Given the description of an element on the screen output the (x, y) to click on. 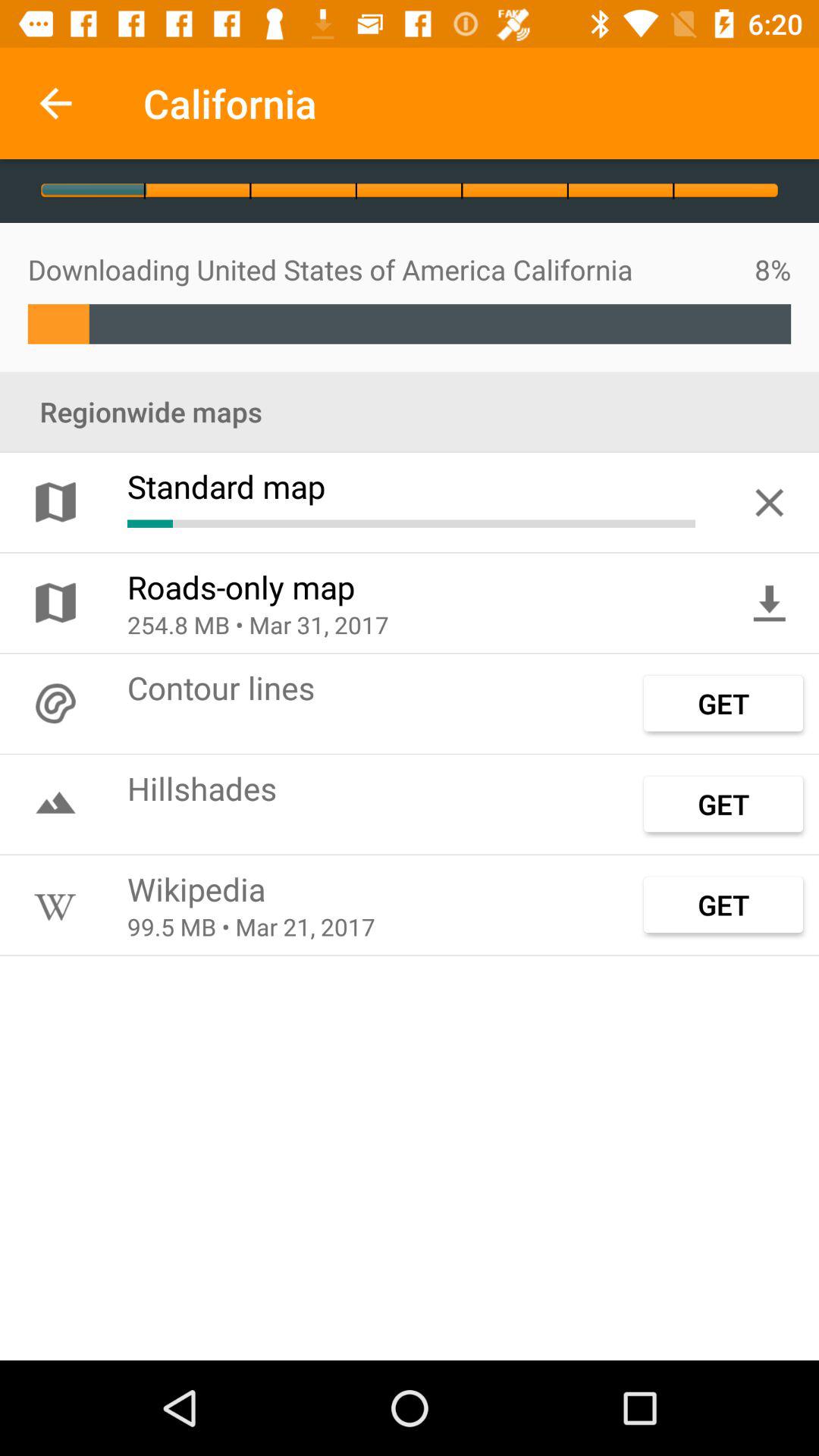
turn off the item above the get icon (769, 602)
